Given the description of an element on the screen output the (x, y) to click on. 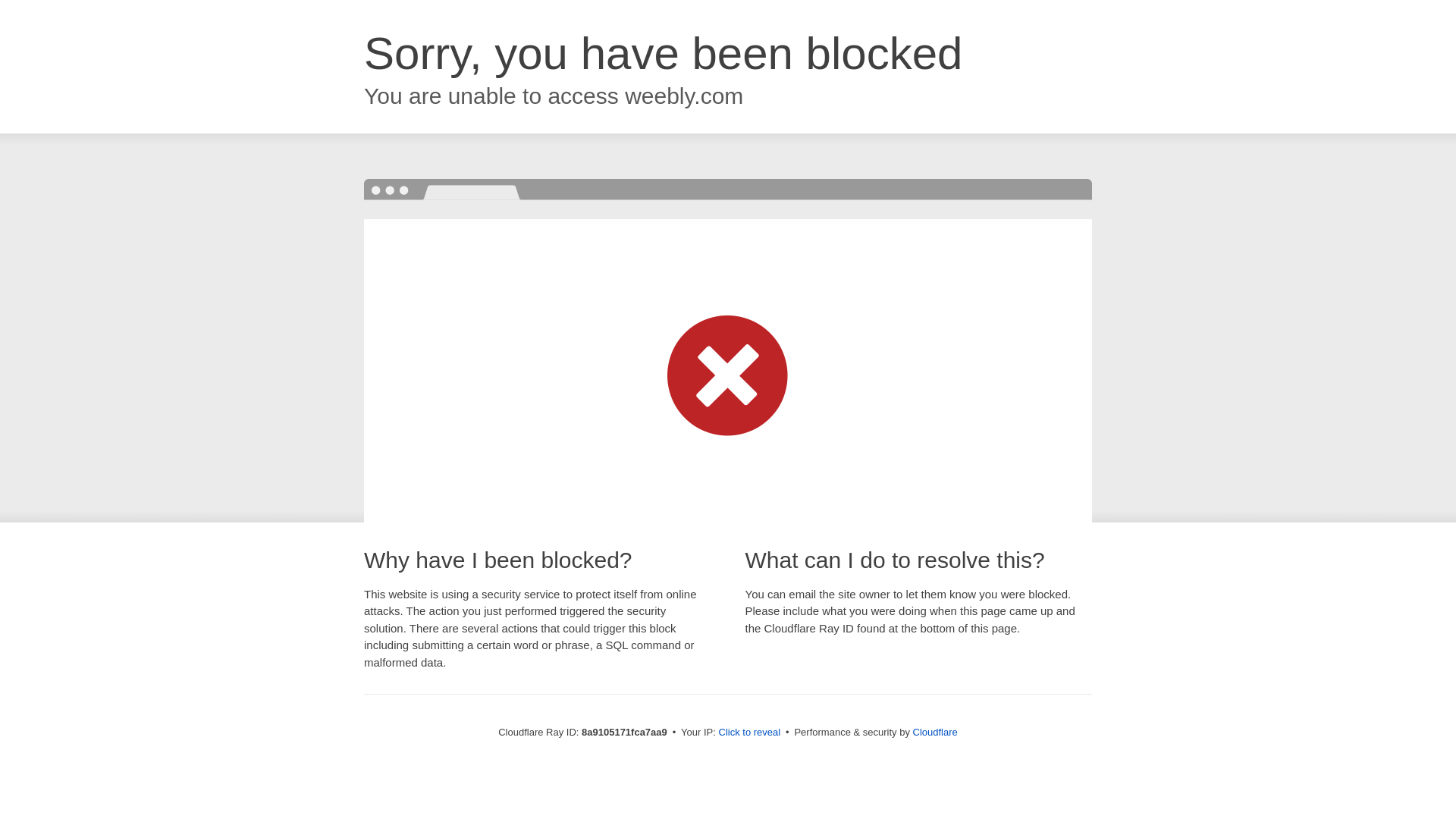
Cloudflare (935, 731)
Click to reveal (749, 732)
